Given the description of an element on the screen output the (x, y) to click on. 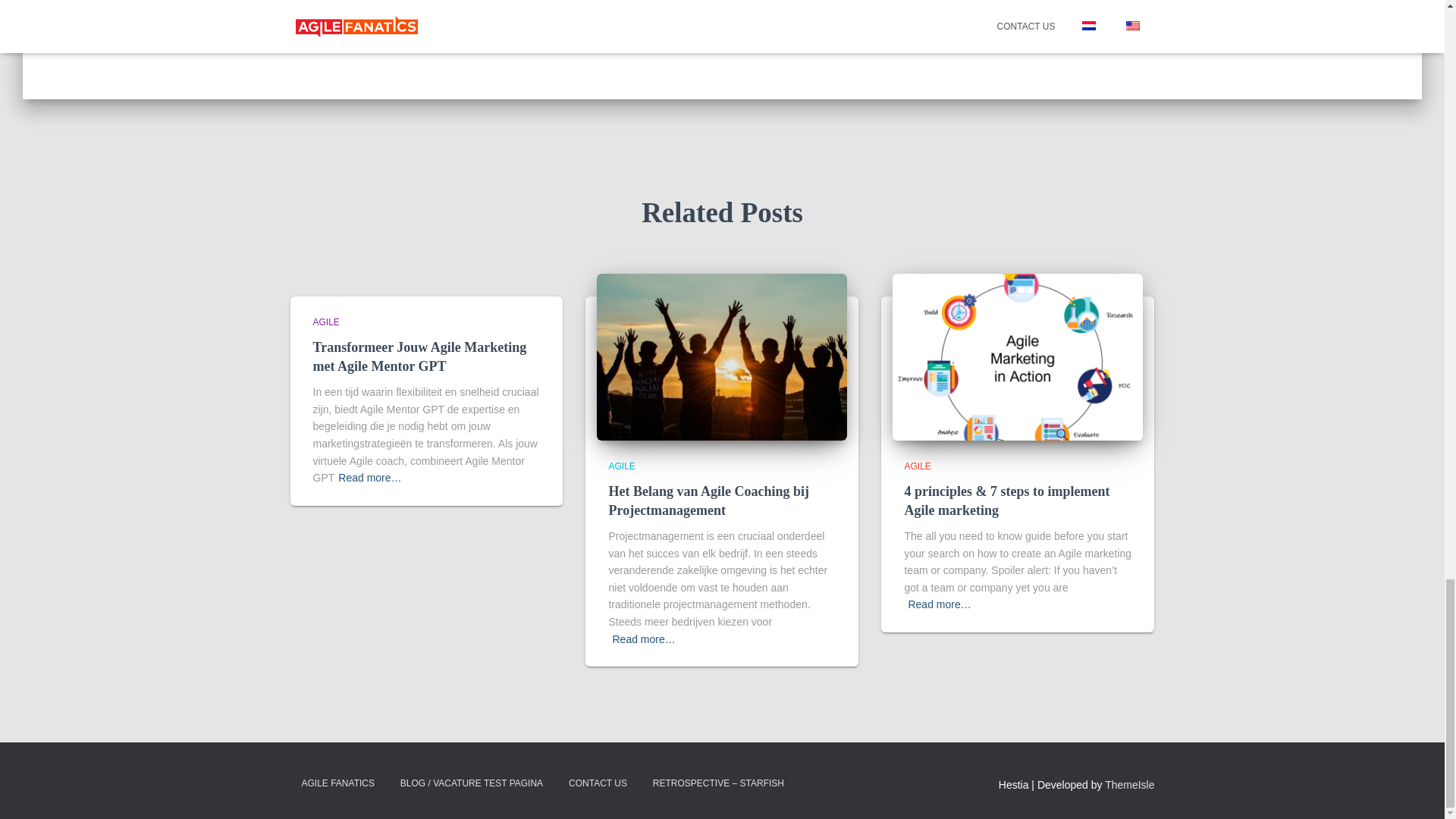
ThemeIsle (1129, 784)
Transformeer Jouw Agile Marketing met Agile Mentor GPT (419, 356)
View all posts in Agile (621, 466)
Het Belang van Agile Coaching bij Projectmanagement (708, 500)
AGILE (621, 466)
View all posts in Agile (917, 466)
AGILE FANATICS (337, 783)
AGILE (326, 321)
View all posts in Agile (326, 321)
Het Belang van Agile Coaching bij Projectmanagement (721, 356)
